Given the description of an element on the screen output the (x, y) to click on. 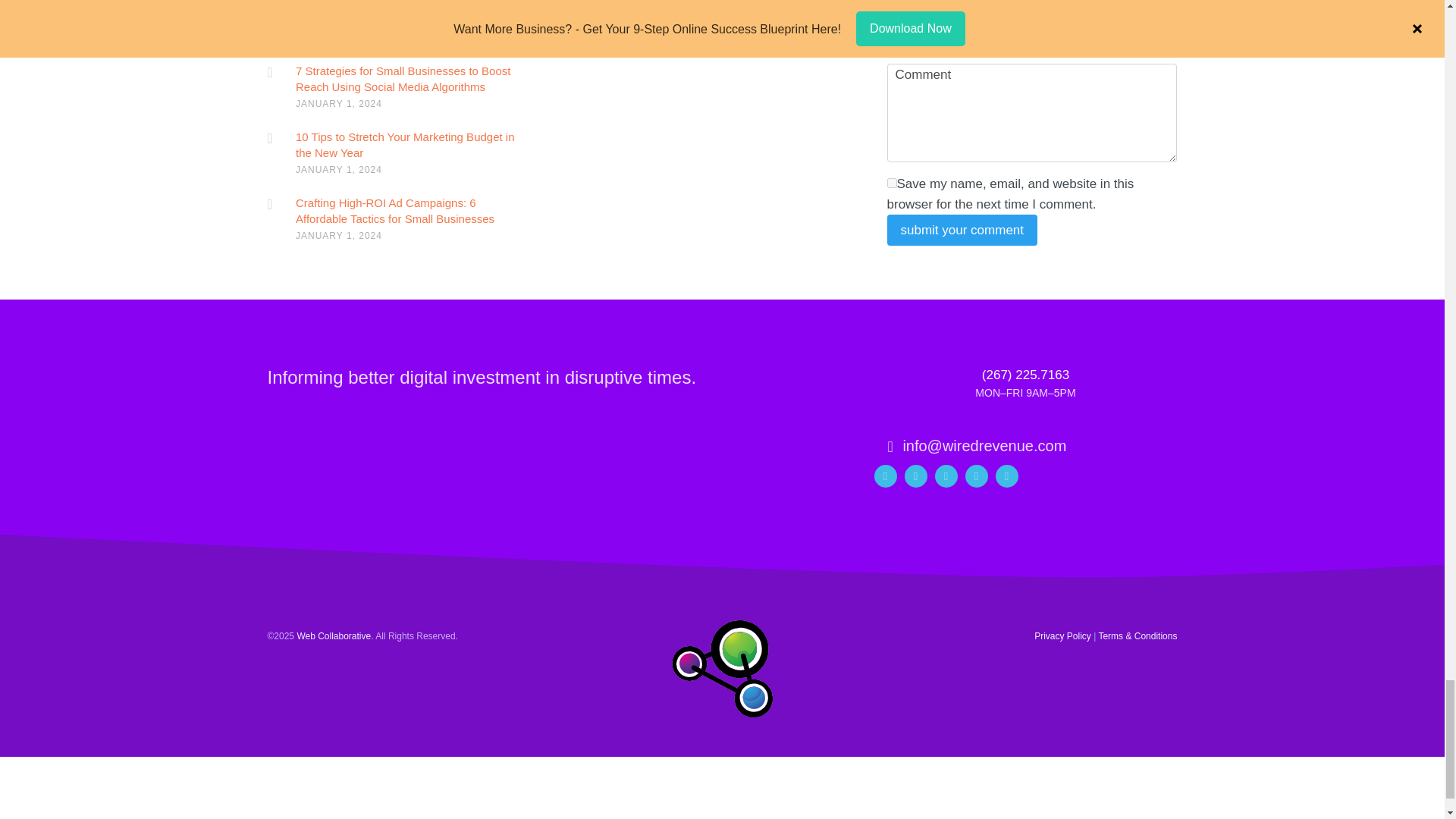
yes (891, 183)
SUBMIT YOUR COMMENT (962, 229)
